Given the description of an element on the screen output the (x, y) to click on. 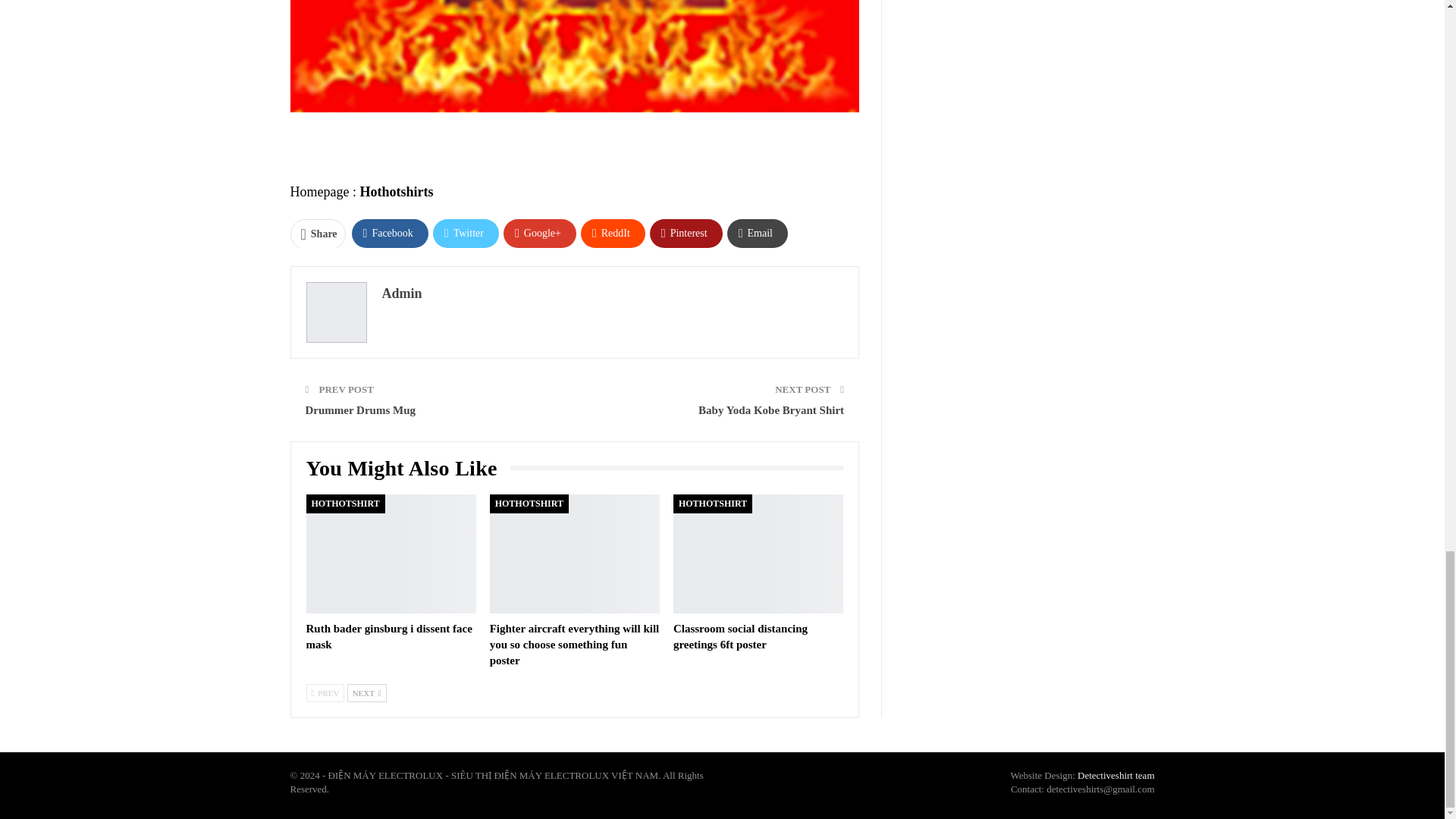
Ruth bader ginsburg i dissent face mask (390, 553)
Baby Yoda Kobe Bryant Shirt (771, 410)
ReddIt (612, 232)
Ruth bader ginsburg i dissent face mask (388, 636)
Previous (325, 692)
Classroom social distancing greetings 6ft poster (757, 553)
Classroom social distancing greetings 6ft poster (740, 636)
Ruth bader ginsburg i dissent face mask (388, 636)
